Given the description of an element on the screen output the (x, y) to click on. 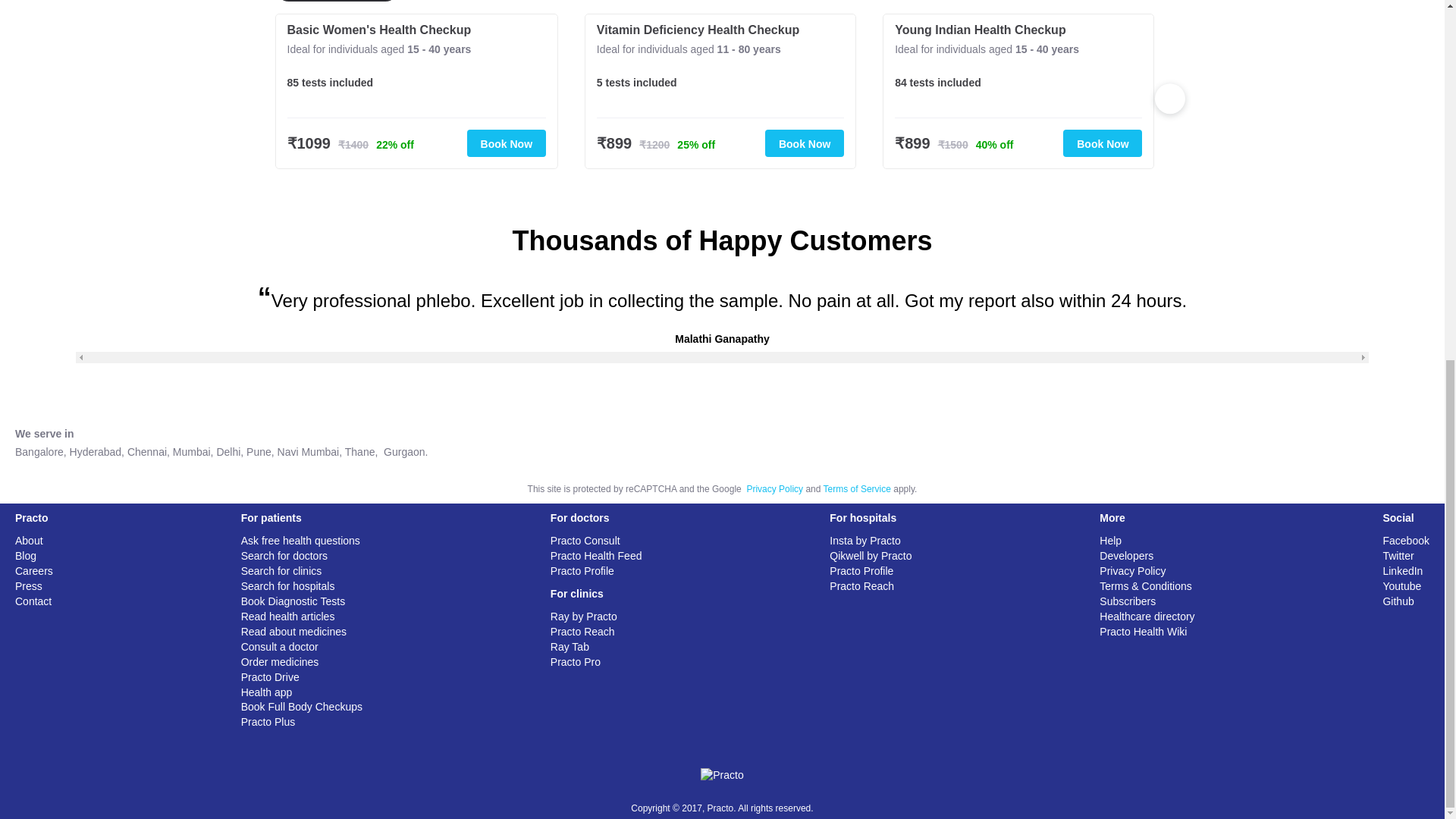
Book Now (506, 143)
Book Now (804, 143)
Book Now (1101, 143)
